Given the description of an element on the screen output the (x, y) to click on. 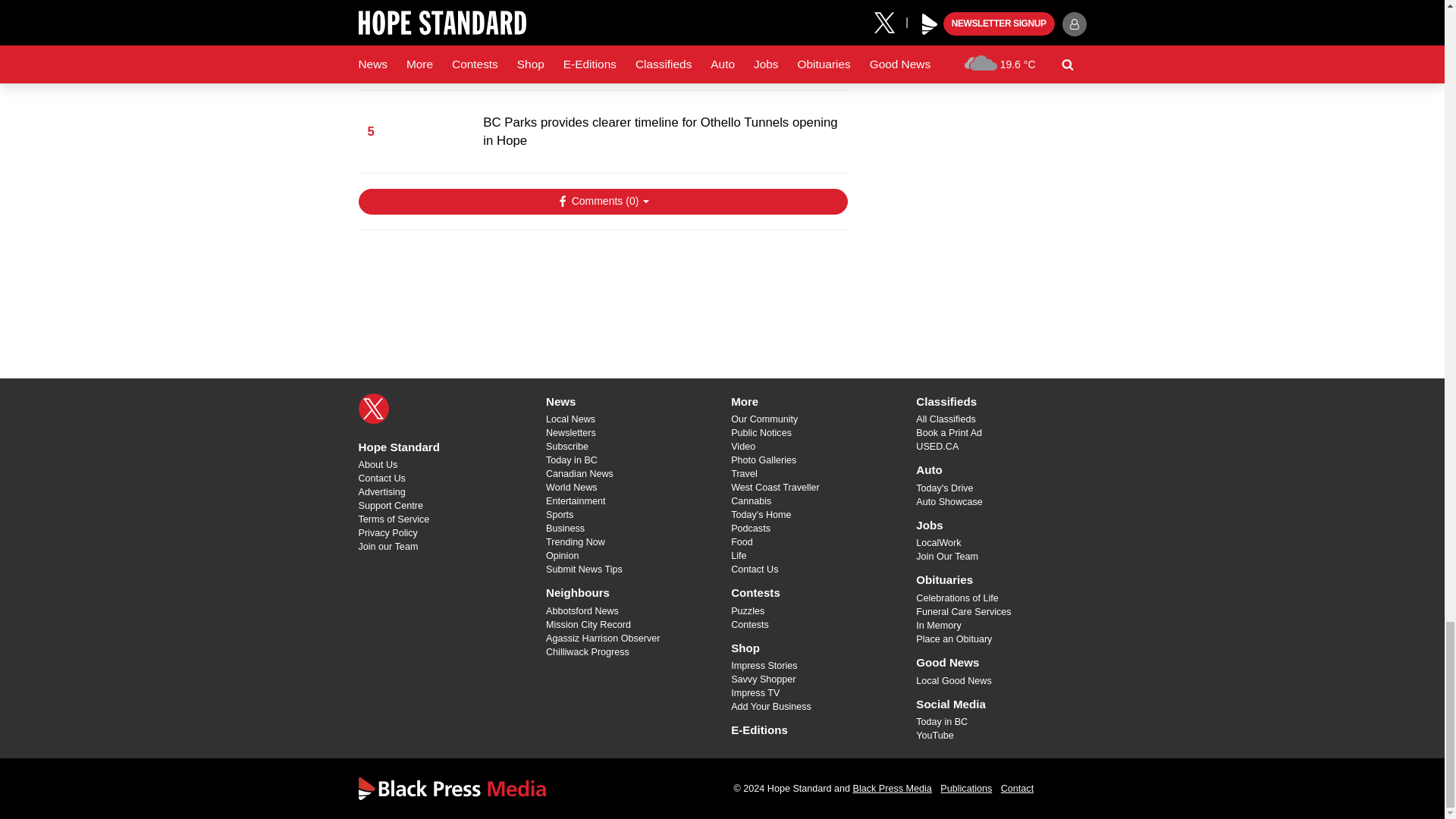
Show Comments (602, 201)
X (373, 408)
